Given the description of an element on the screen output the (x, y) to click on. 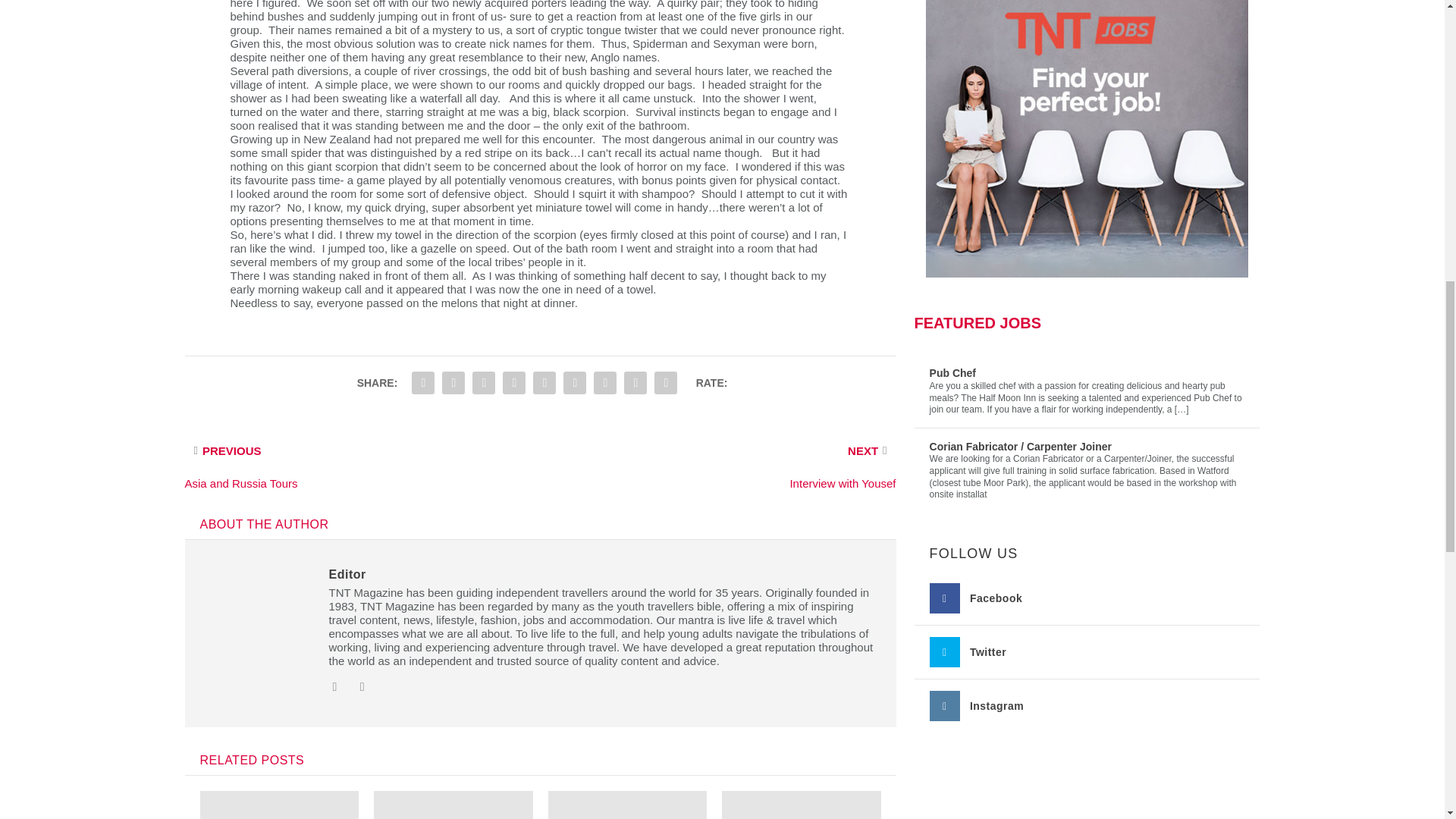
Share "Towel Time in Thailand" via Facebook (422, 382)
Share "Towel Time in Thailand" via Twitter (453, 382)
Share "Towel Time in Thailand" via Pinterest (514, 382)
Share "Towel Time in Thailand" via Stumbleupon (604, 382)
Share "Towel Time in Thailand" via LinkedIn (544, 382)
Editor (347, 574)
Share "Towel Time in Thailand" via Email (635, 382)
Share "Towel Time in Thailand" via Tumblr (483, 382)
Share "Towel Time in Thailand" via Buffer (574, 382)
